Given the description of an element on the screen output the (x, y) to click on. 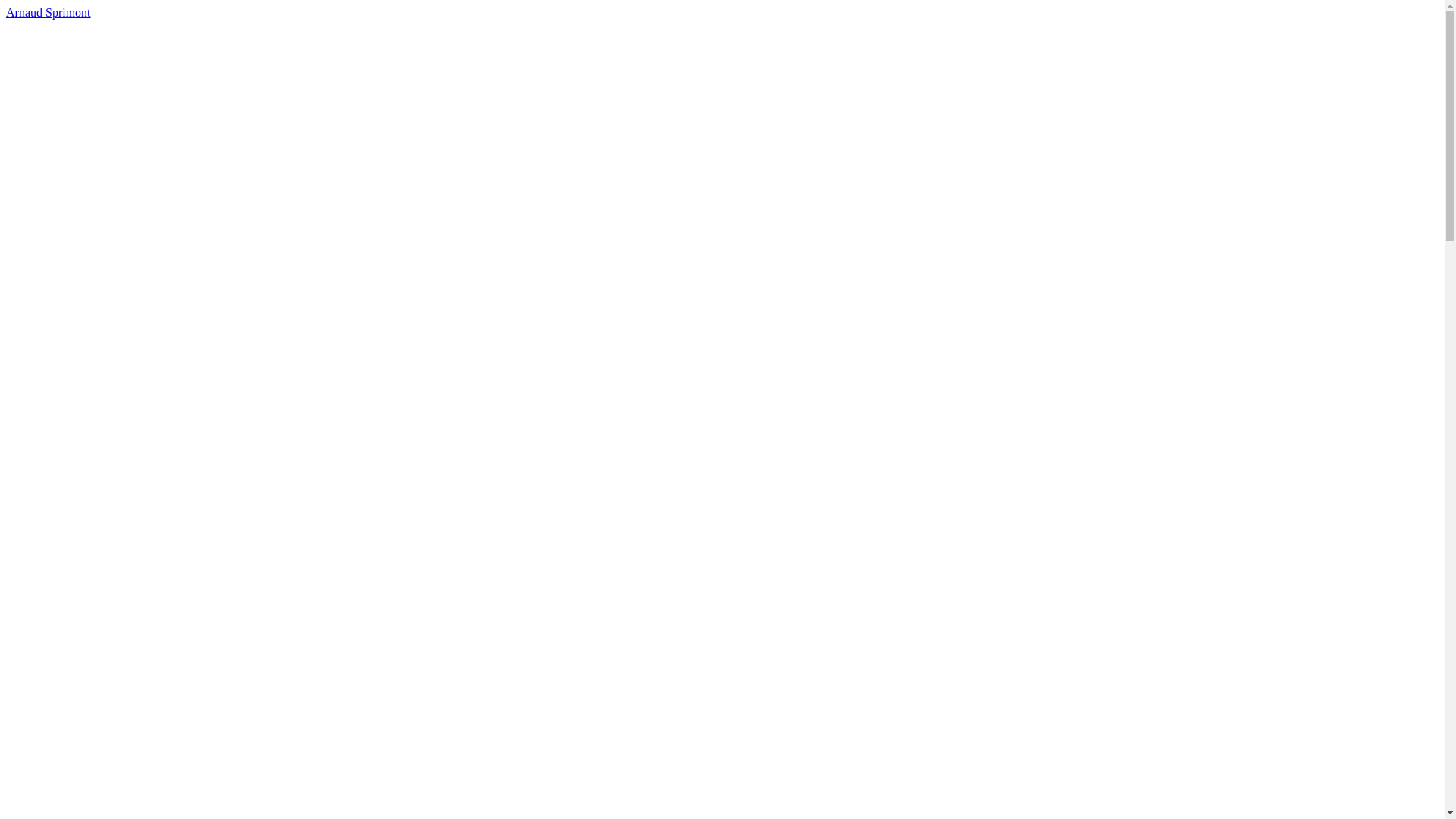
Arnaud Sprimont Element type: text (48, 12)
